Given the description of an element on the screen output the (x, y) to click on. 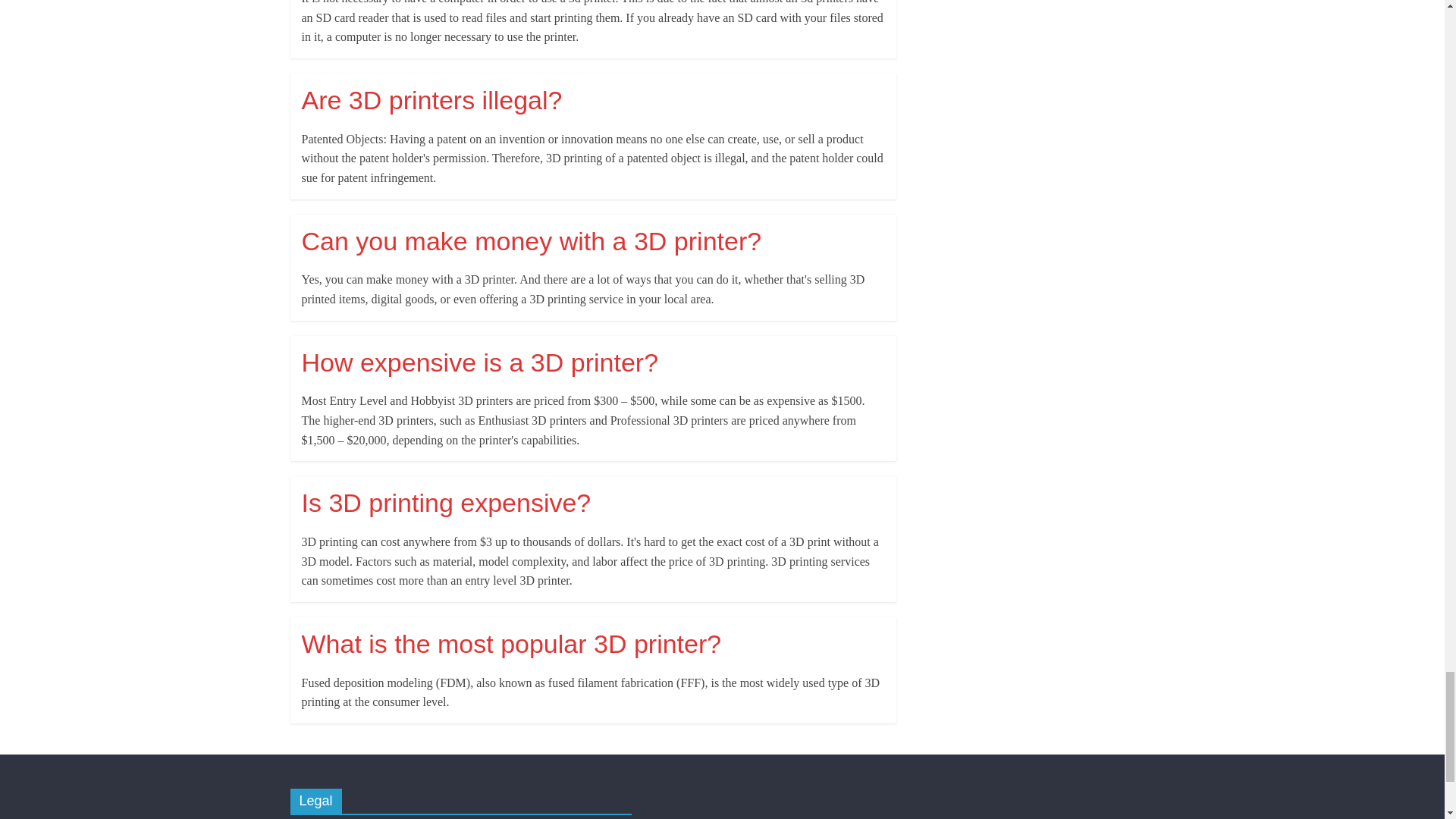
Are 3D printers illegal? (431, 99)
Can you make money with a 3D printer? (531, 240)
What is the most popular 3D printer? (511, 643)
Is 3D printing expensive? (446, 502)
How expensive is a 3D printer? (480, 362)
